Given the description of an element on the screen output the (x, y) to click on. 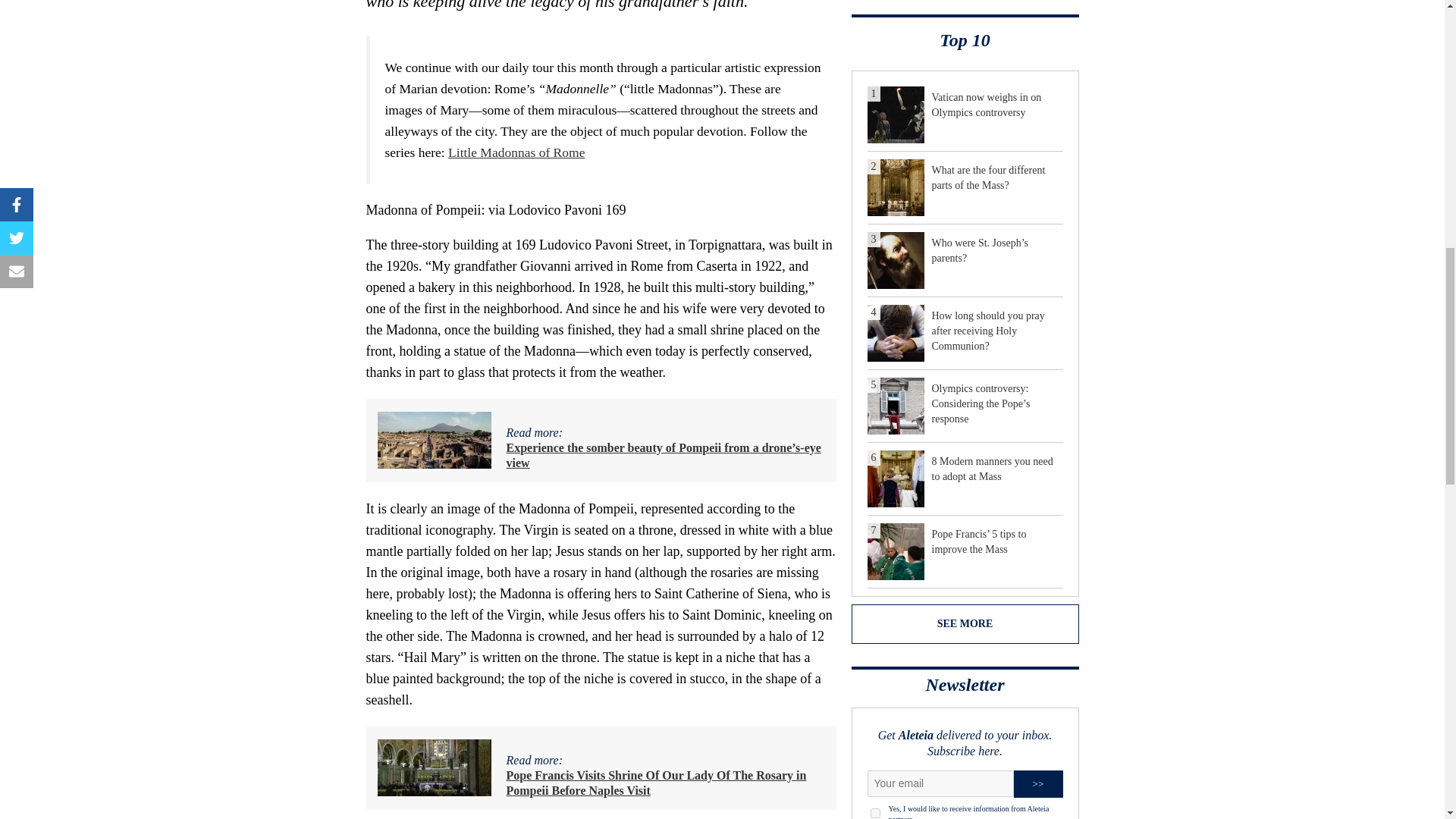
Little Madonnas of Rome (516, 151)
1 (875, 813)
